Given the description of an element on the screen output the (x, y) to click on. 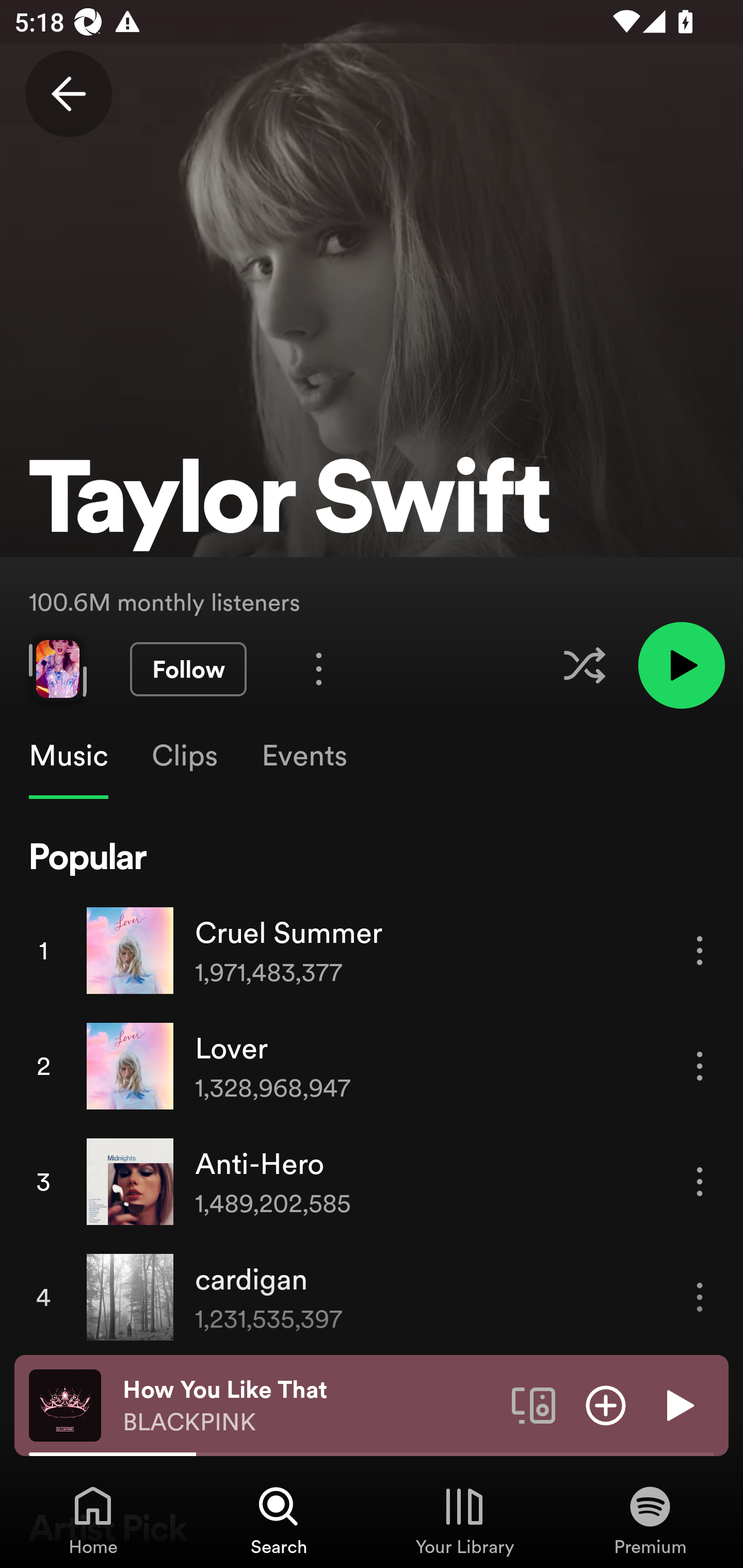
Back (68, 93)
Play artist (681, 664)
Enable shuffle for this artist (583, 665)
Swipe through previews of tracks from this artist. (57, 668)
More options for artist Taylor Swift (318, 668)
Follow (188, 669)
Clips (184, 755)
Events (303, 755)
More options for song Cruel Summer (699, 950)
2 Lover 1,328,968,947 More options for song Lover (371, 1066)
More options for song Lover (699, 1066)
More options for song Anti-Hero (699, 1181)
More options for song cardigan (699, 1297)
How You Like That BLACKPINK (309, 1405)
The cover art of the currently playing track (64, 1404)
Connect to a device. Opens the devices menu (533, 1404)
Add item (605, 1404)
Play (677, 1404)
Home, Tab 1 of 4 Home Home (92, 1519)
Search, Tab 2 of 4 Search Search (278, 1519)
Your Library, Tab 3 of 4 Your Library Your Library (464, 1519)
Premium, Tab 4 of 4 Premium Premium (650, 1519)
